Given the description of an element on the screen output the (x, y) to click on. 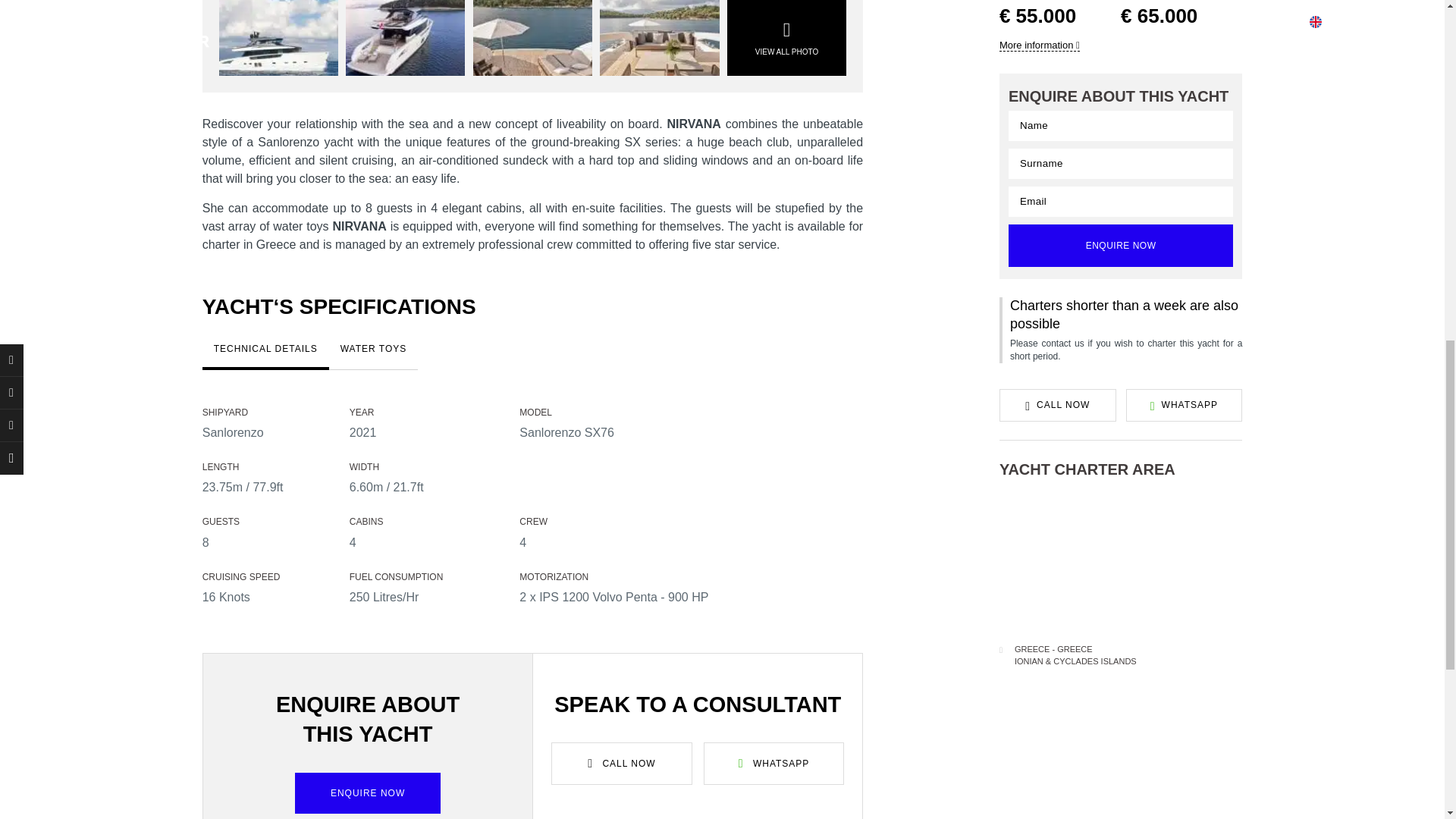
NIRVANA-Yacht-11 (405, 38)
ENQUIRE NOW (1121, 245)
WHATSAPP (1184, 404)
CALL NOW (1057, 404)
More information (1039, 45)
NIRVANA-Yacht-06 (278, 38)
NIRVANA-Yacht-05 (532, 38)
NIRVANA-Yacht-04 (659, 38)
